Given the description of an element on the screen output the (x, y) to click on. 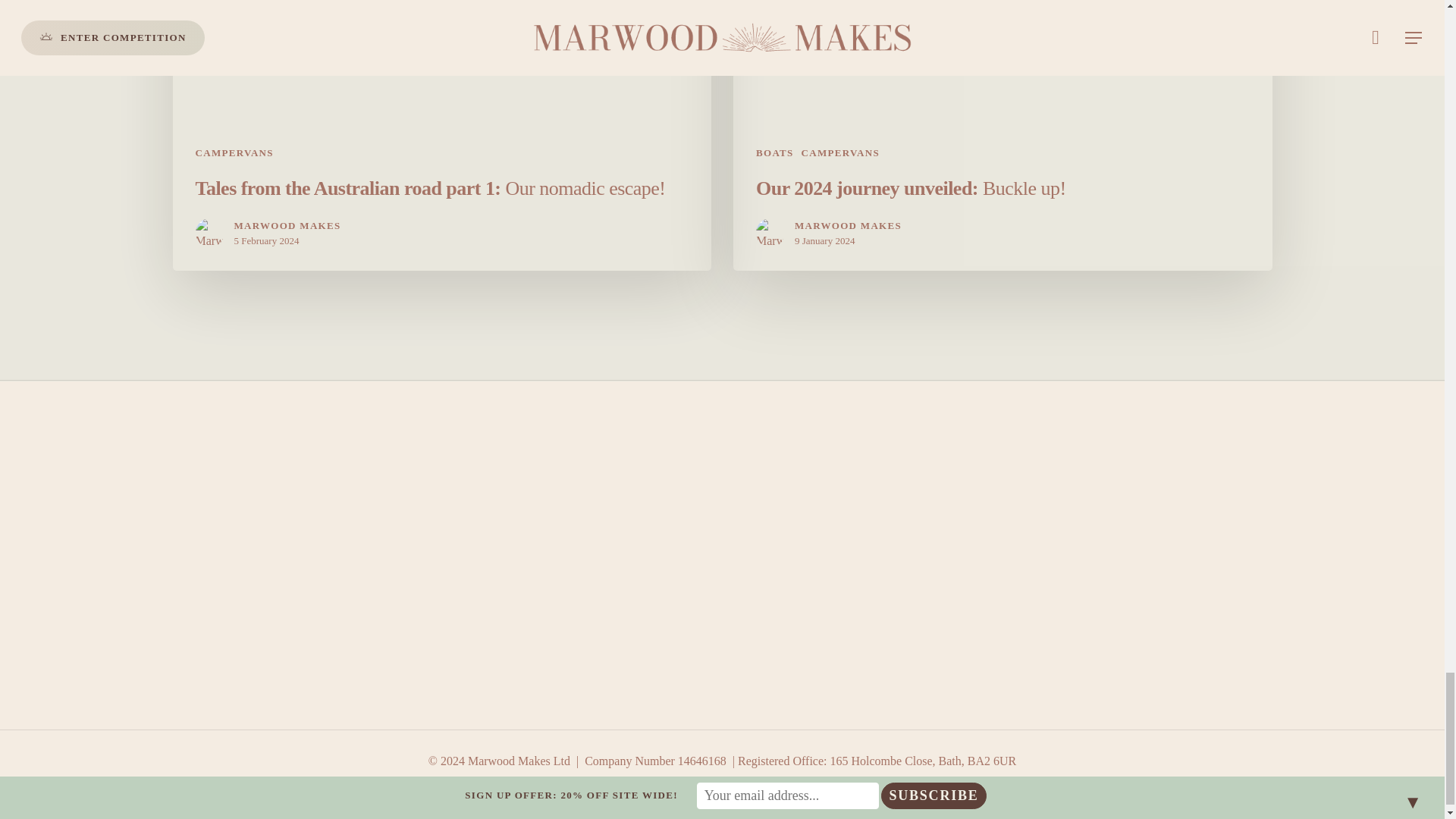
MARWOOD MAKES (847, 225)
CAMPERVANS (234, 152)
CAMPERVANS (840, 152)
MARWOOD MAKES (286, 225)
BOATS (774, 152)
